Given the description of an element on the screen output the (x, y) to click on. 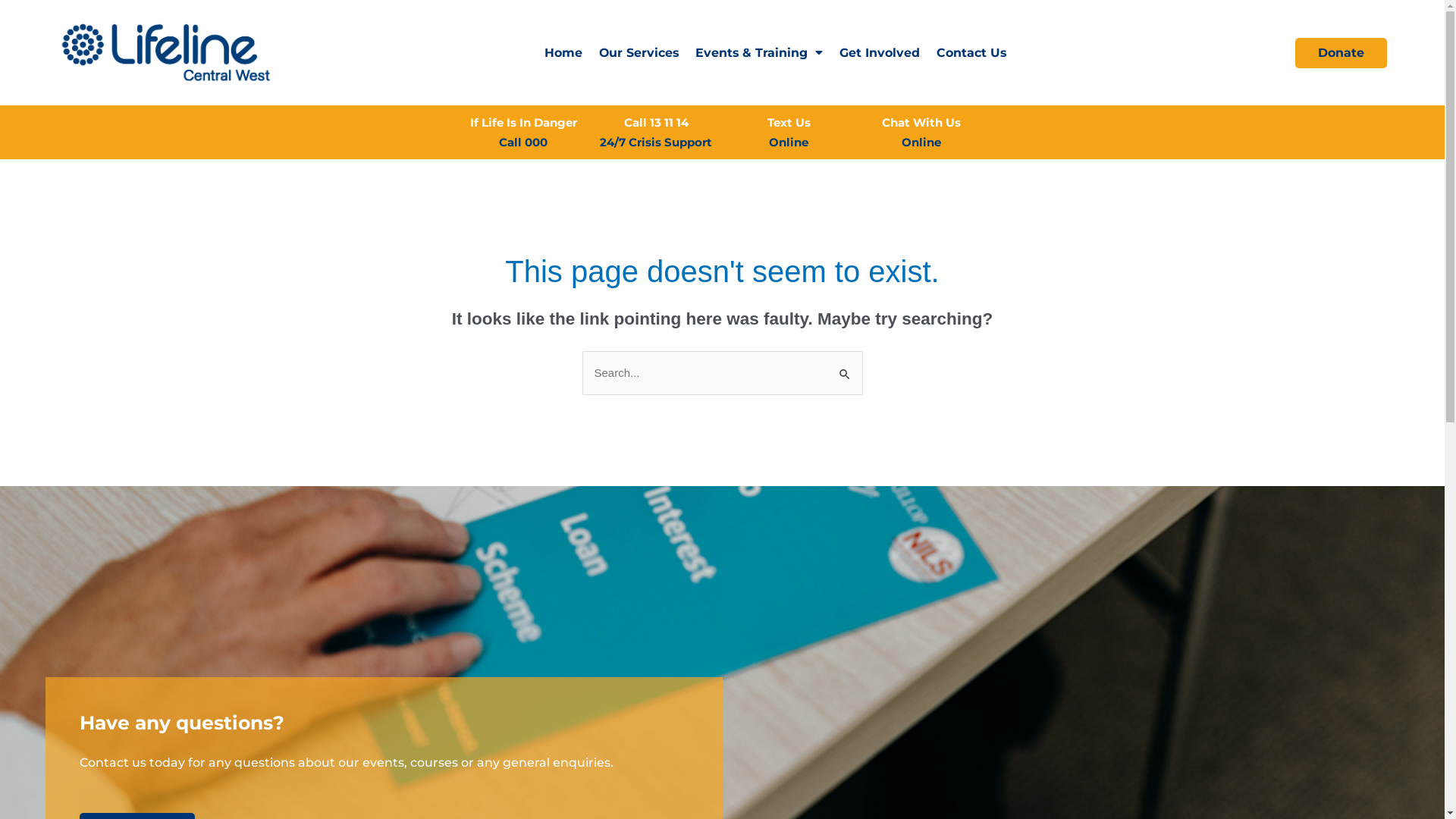
Get Involved Element type: text (879, 52)
Events & Training Element type: text (759, 52)
Donate Element type: text (1340, 52)
Contact Us Element type: text (971, 52)
Call 13 11 14
24/7 Crisis Support Element type: text (655, 132)
Chat With Us
Online Element type: text (920, 132)
Search Element type: text (845, 366)
Our Services Element type: text (638, 52)
If Life Is In Danger
Call 000 Element type: text (523, 132)
Home Element type: text (563, 52)
Text Us
Online Element type: text (788, 132)
